Given the description of an element on the screen output the (x, y) to click on. 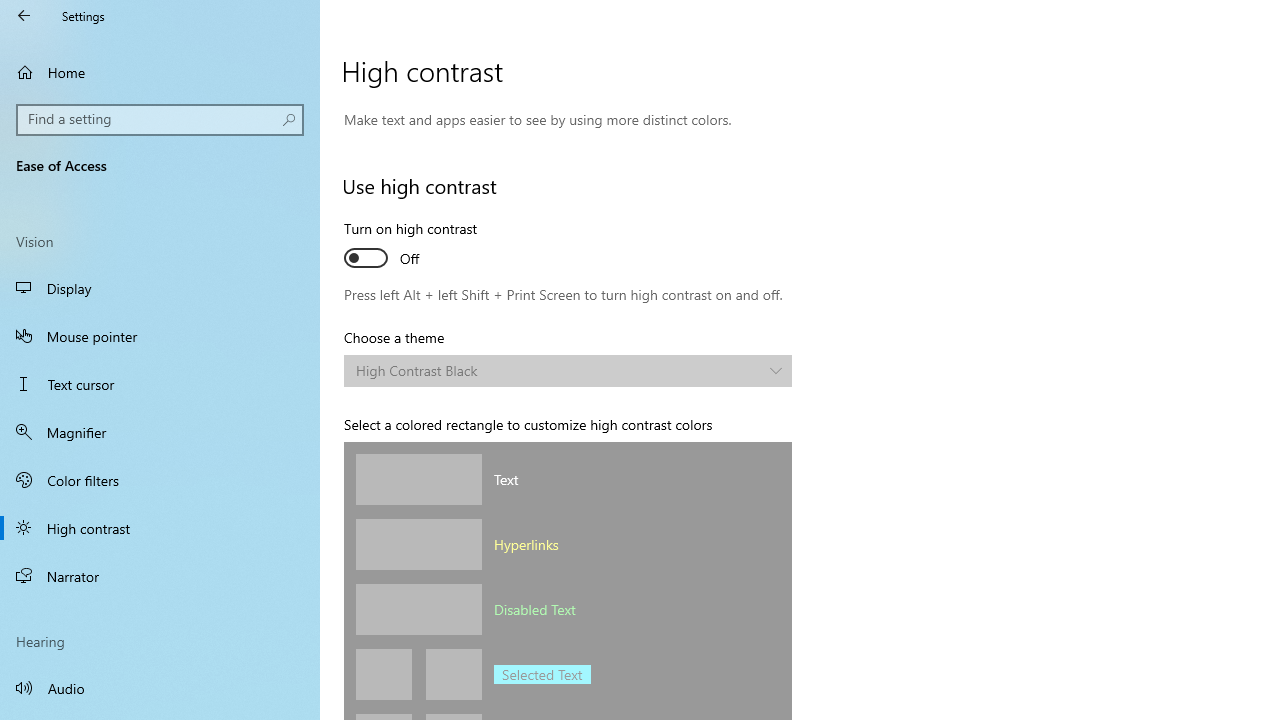
Selected text background color (453, 673)
Magnifier (160, 431)
Hyperlink text color (418, 544)
Search box, Find a setting (160, 119)
High contrast (160, 527)
Narrator (160, 575)
Turn on high contrast (417, 246)
Text color (418, 479)
Selected text color (383, 673)
Disabled text color (418, 609)
Audio (160, 687)
Back (24, 15)
Text cursor (160, 384)
High Contrast Black (557, 370)
Display (160, 287)
